Given the description of an element on the screen output the (x, y) to click on. 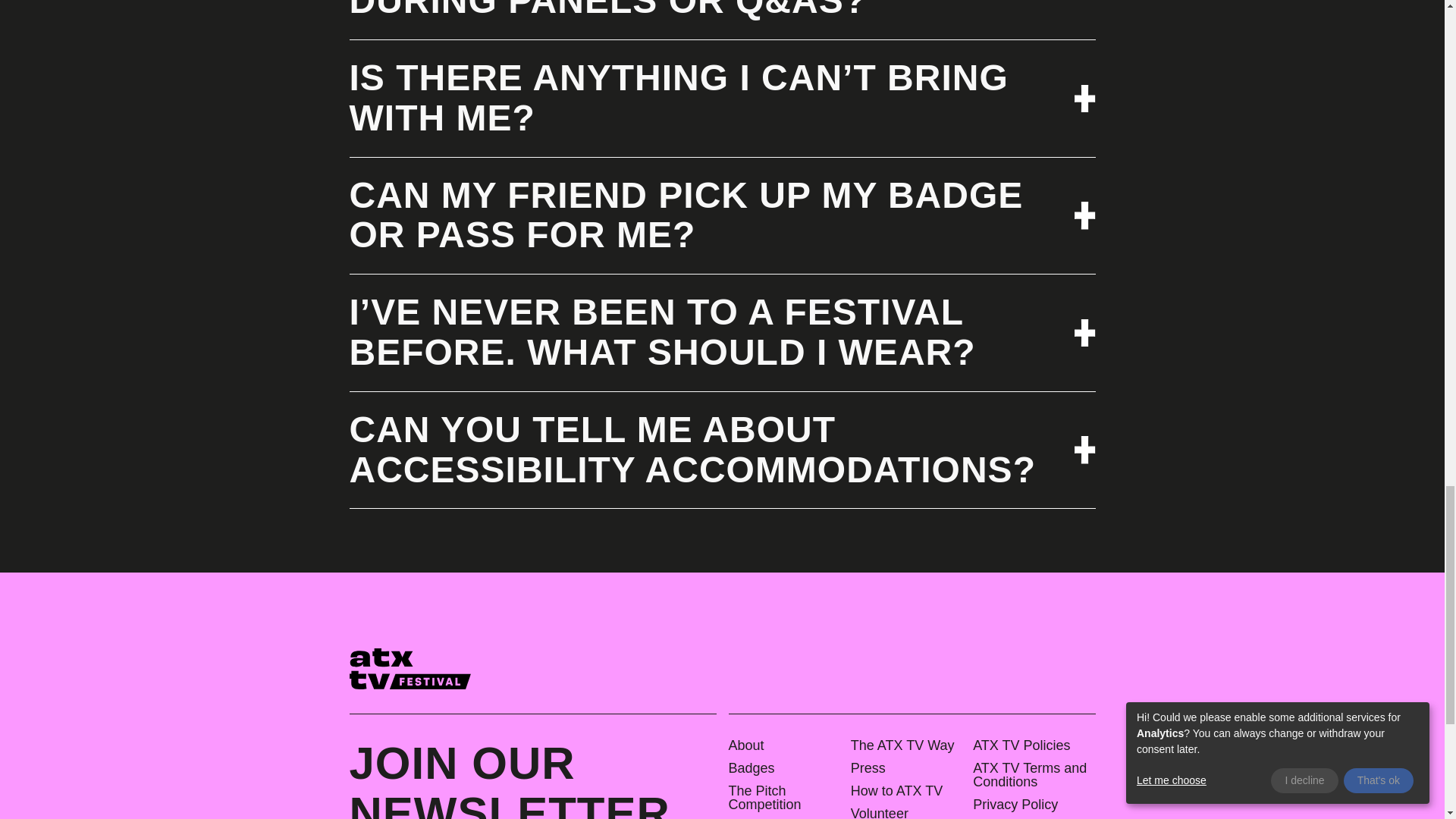
The Pitch Competition (786, 797)
CAN MY FRIEND PICK UP MY BADGE OR PASS FOR ME? (721, 216)
CAN YOU TELL ME ABOUT ACCESSIBILITY ACCOMMODATIONS? (721, 450)
Badges (786, 767)
The ATX TV Way (908, 745)
About (786, 745)
